Given the description of an element on the screen output the (x, y) to click on. 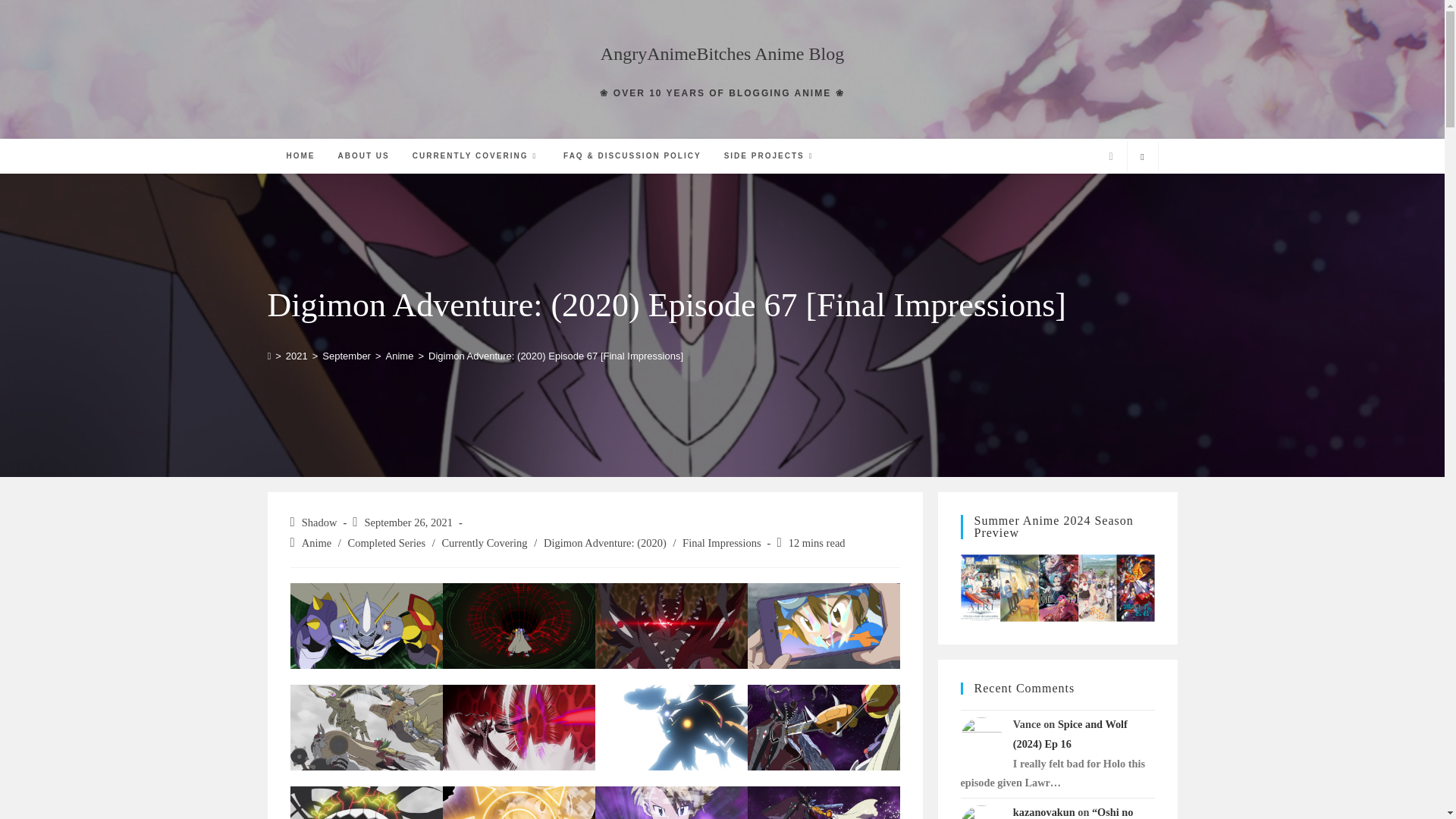
September (346, 355)
Posts by Shadow (319, 522)
ABOUT US (363, 155)
CURRENTLY COVERING (476, 155)
AngryAnimeBitches Anime Blog (721, 53)
Anime (399, 355)
HOME (300, 155)
SIDE PROJECTS (770, 155)
2021 (296, 355)
